Given the description of an element on the screen output the (x, y) to click on. 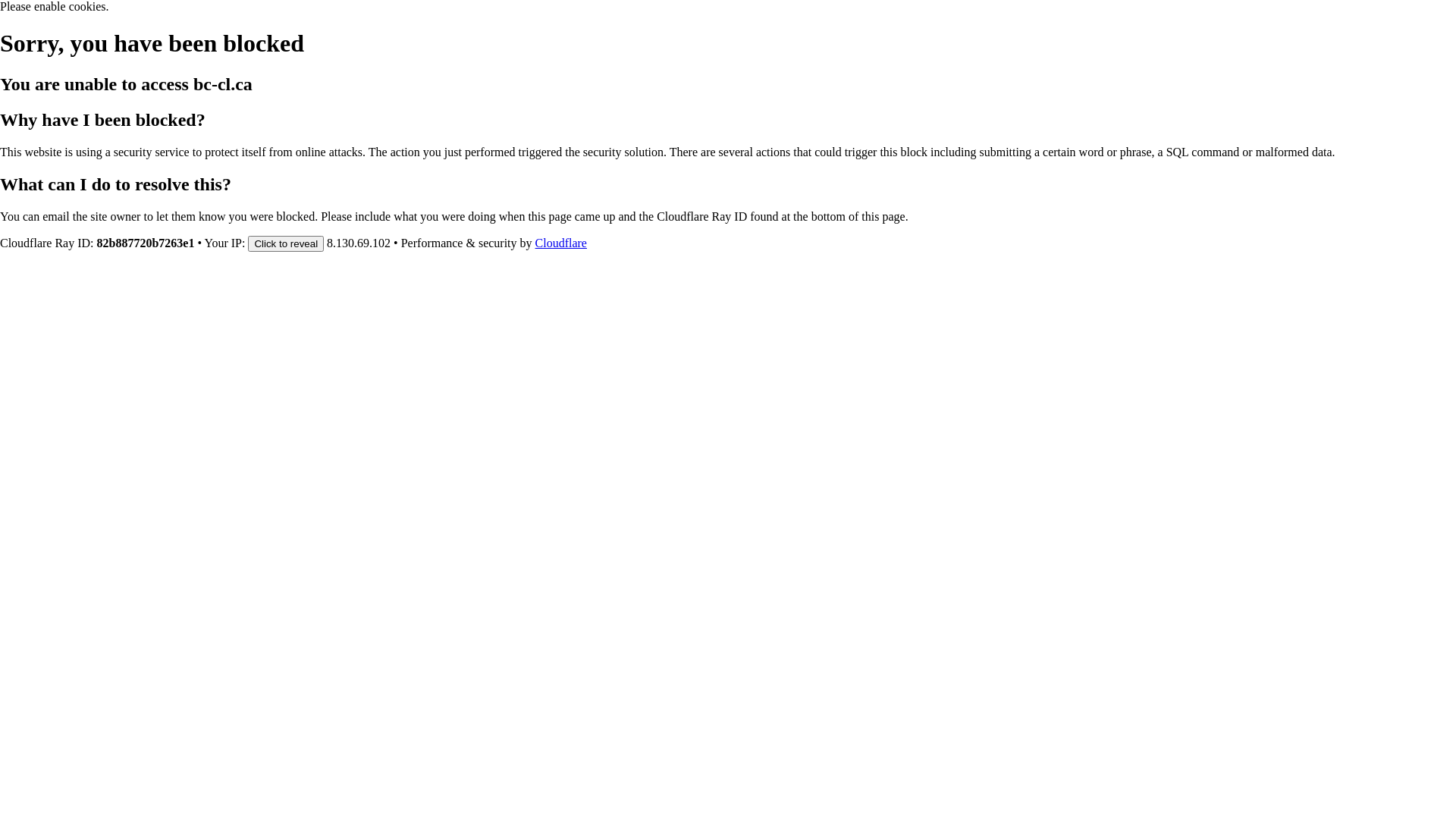
Cloudflare Element type: text (560, 242)
Click to reveal Element type: text (285, 243)
